Given the description of an element on the screen output the (x, y) to click on. 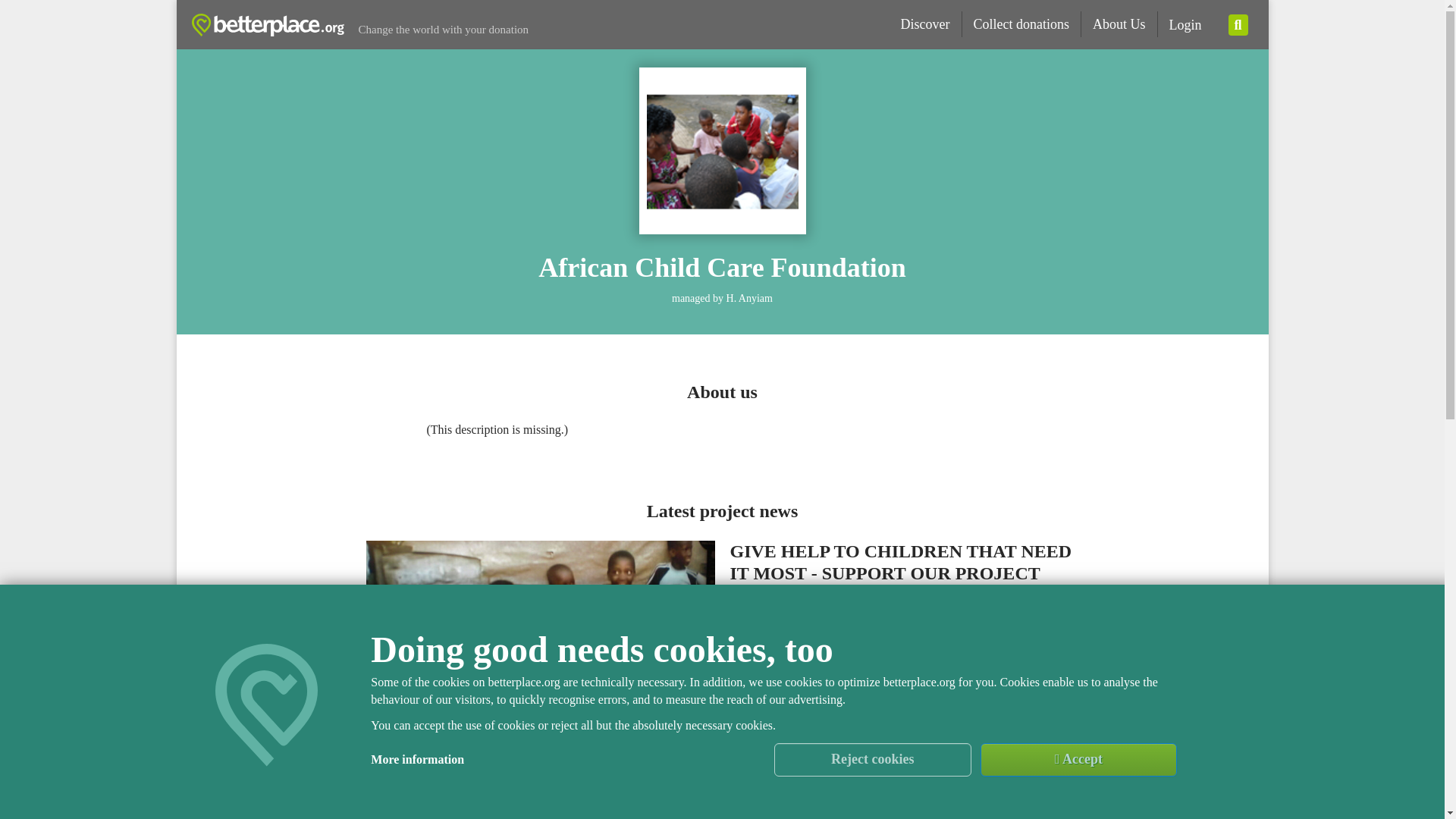
Collect donations (1020, 23)
Login (1184, 25)
Discover (925, 23)
About Us (1119, 23)
continue reading (903, 728)
Search (1237, 25)
